Given the description of an element on the screen output the (x, y) to click on. 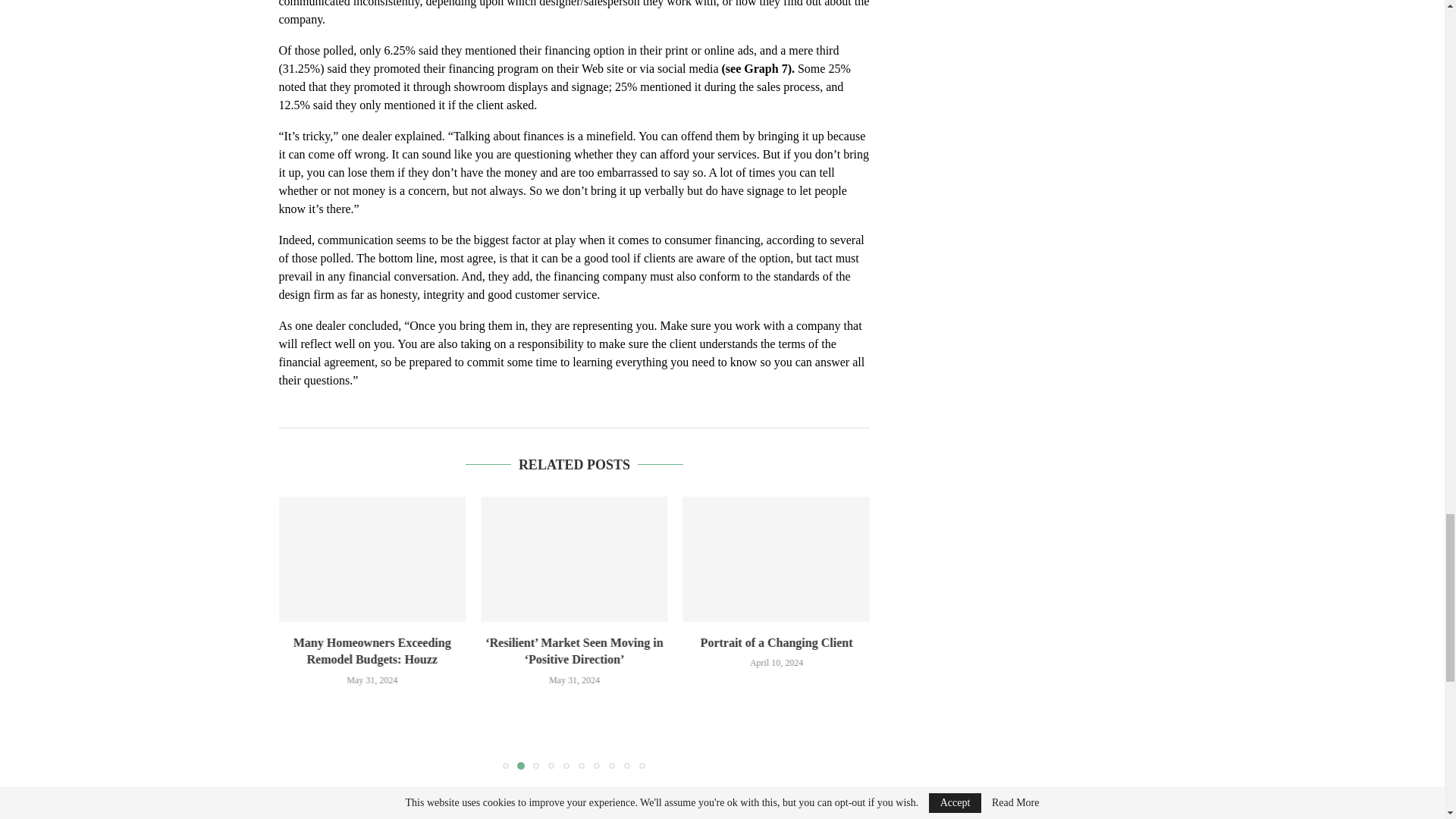
Many Homeowners Exceeding Remodel Budgets: Houzz (371, 558)
Portrait of a Changing Client (776, 558)
